Given the description of an element on the screen output the (x, y) to click on. 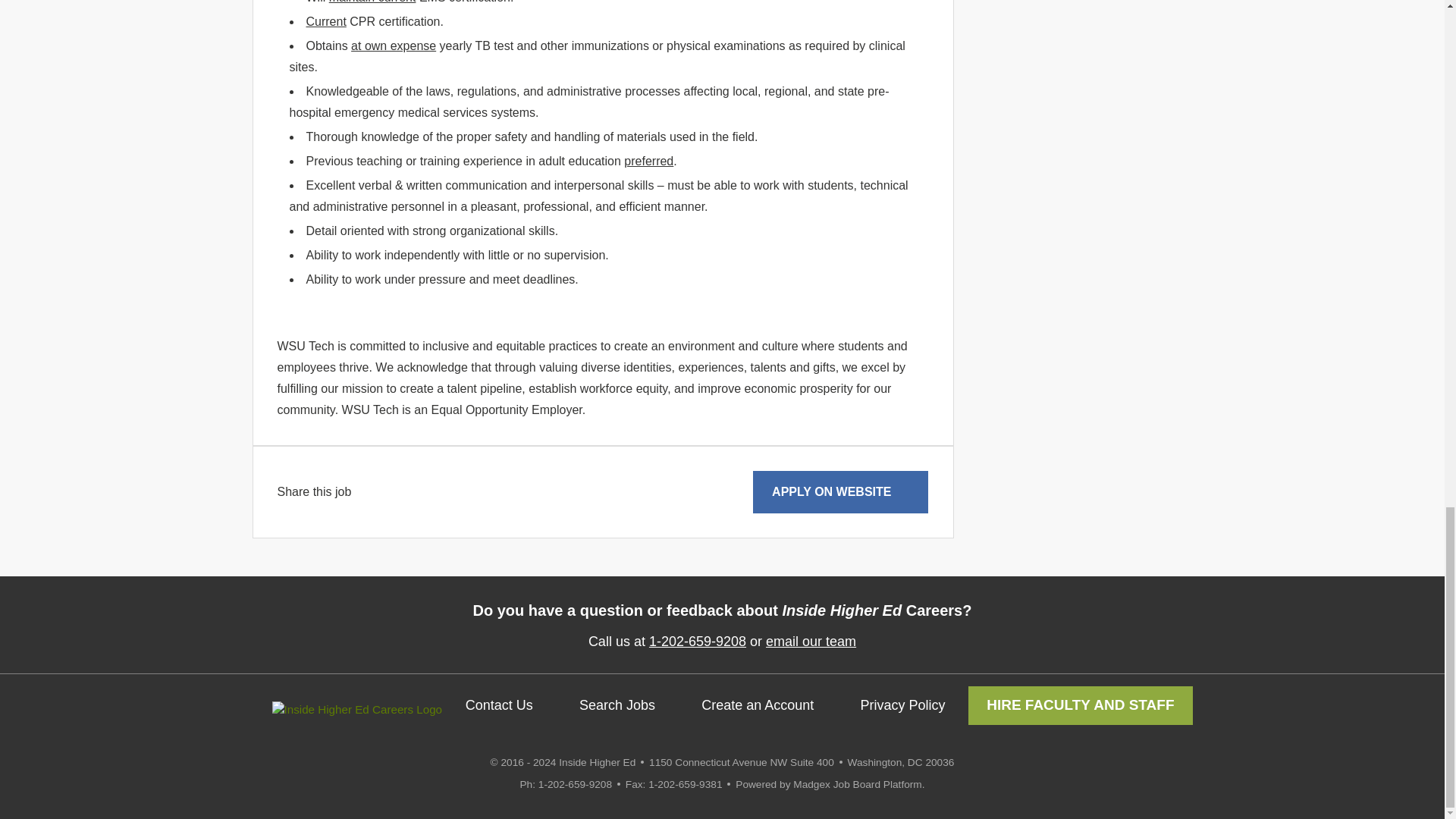
LinkedIn (397, 491)
Twitter (378, 491)
APPLY ON WEBSITE (840, 491)
Inside Higher Ed Careers (356, 709)
Facebook (360, 491)
